Given the description of an element on the screen output the (x, y) to click on. 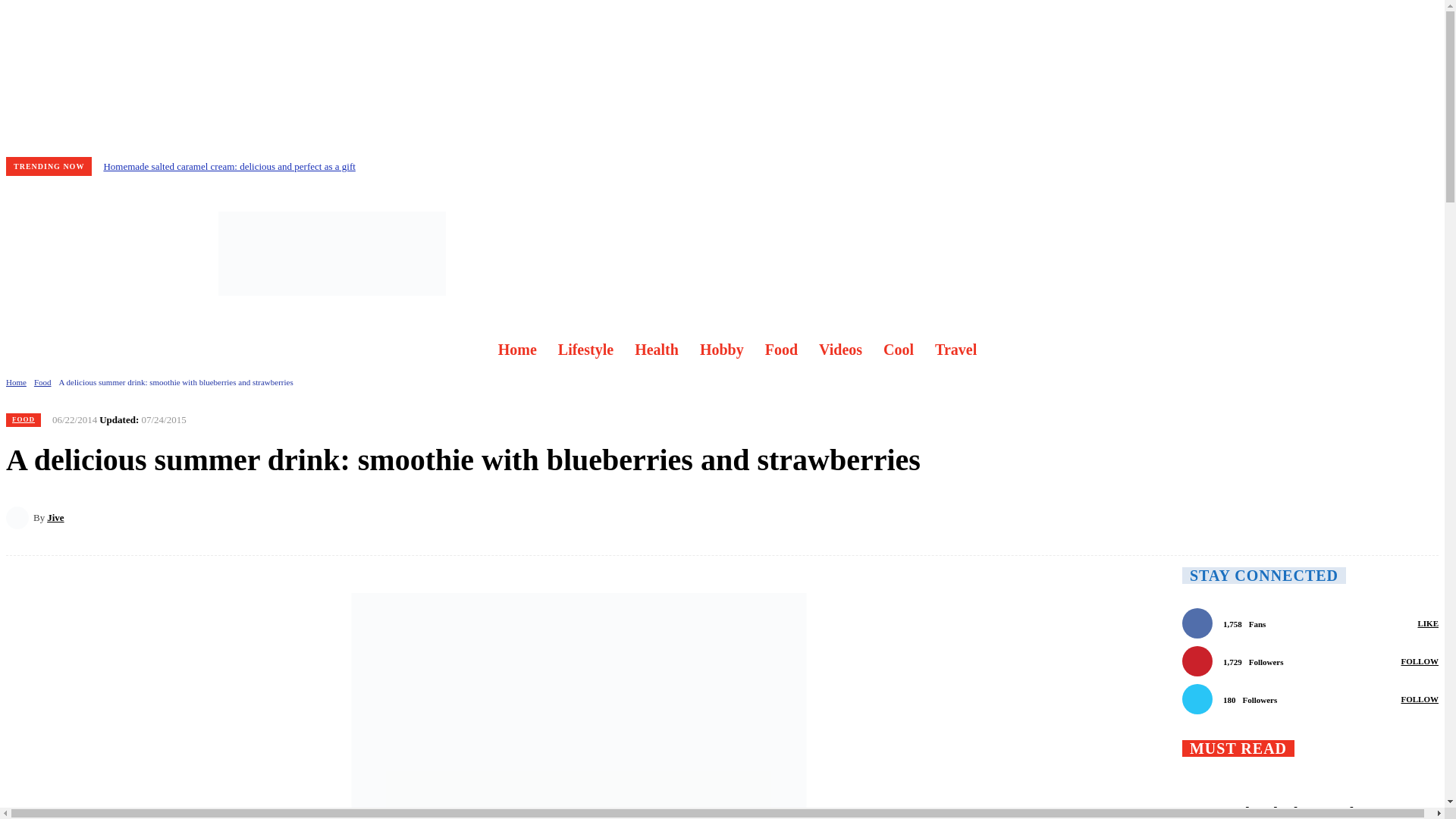
Lifestyle (585, 349)
Health (656, 349)
Food (781, 349)
Facebook (27, 253)
FOOD (22, 419)
Cool (898, 349)
Travel (955, 349)
Home (15, 381)
